Given the description of an element on the screen output the (x, y) to click on. 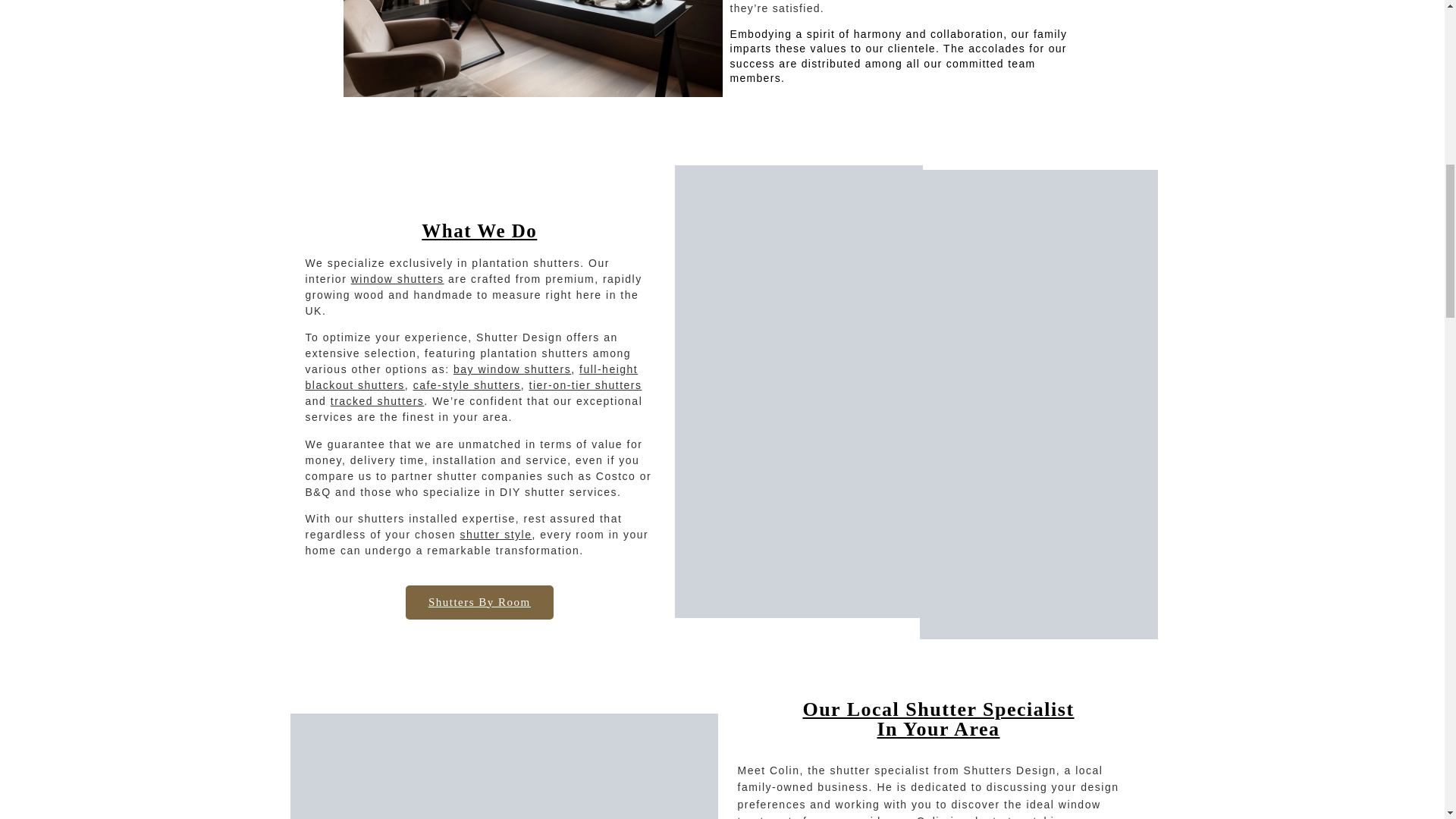
About us 2 (1034, 284)
About us 5 (503, 766)
About us 3 (796, 515)
About us 4 (1038, 519)
About us 1 (798, 288)
